Given the description of an element on the screen output the (x, y) to click on. 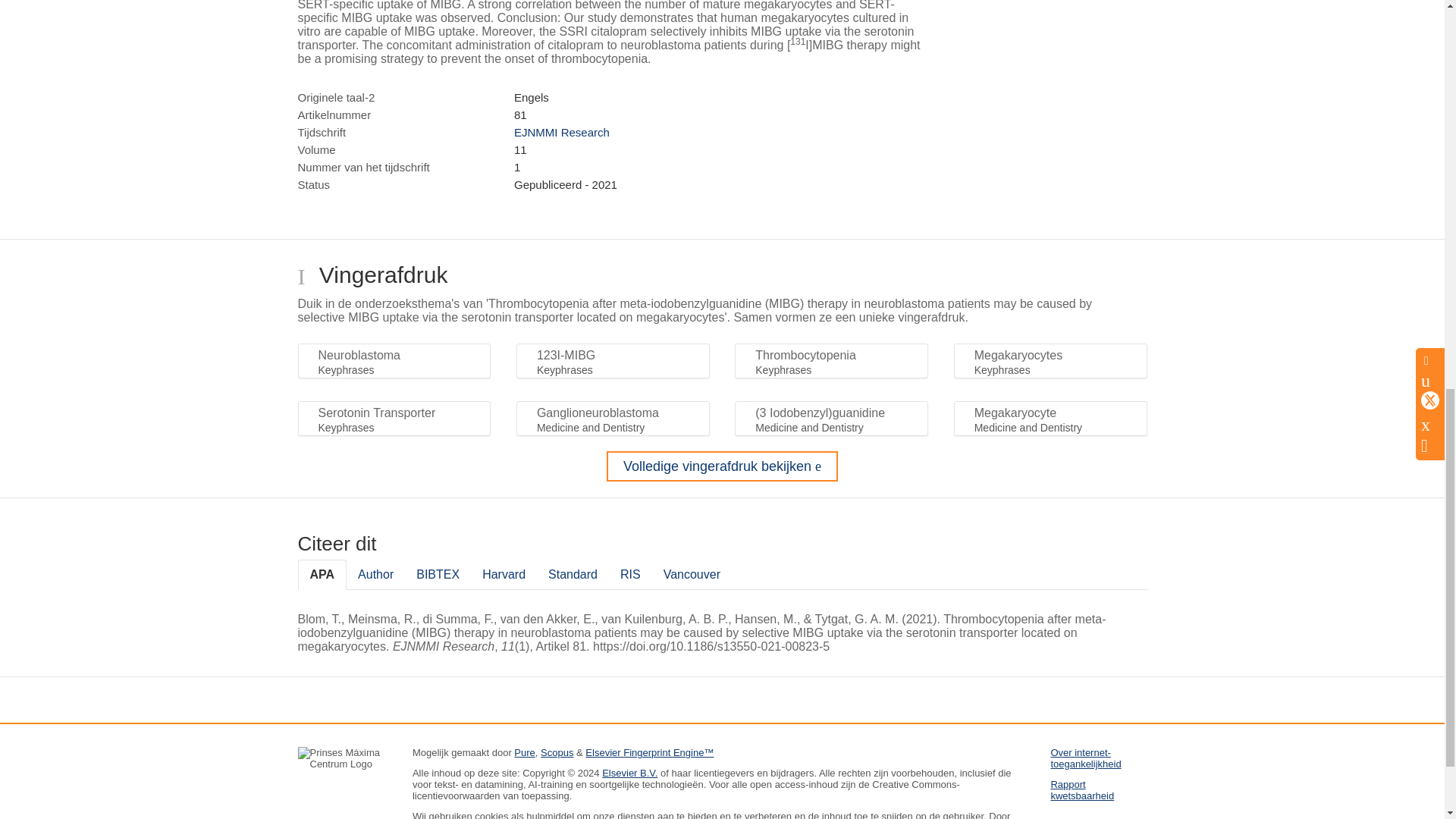
Scopus (556, 752)
Pure (523, 752)
EJNMMI Research (561, 132)
Volledige vingerafdruk bekijken (722, 466)
